Given the description of an element on the screen output the (x, y) to click on. 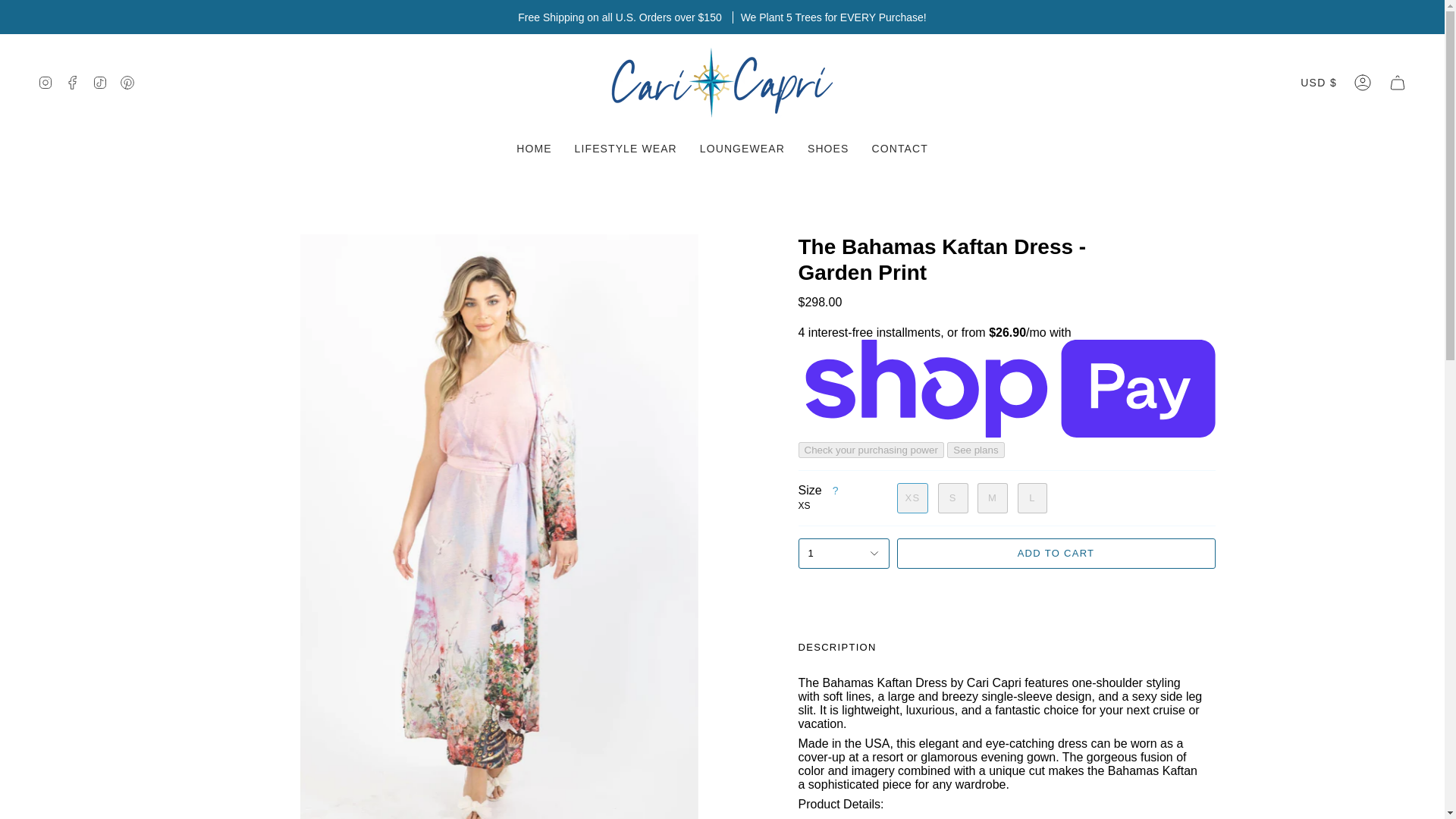
CONTACT (899, 148)
SHOES (828, 148)
HOME (533, 148)
LIFESTYLE WEAR (625, 148)
LOUNGEWEAR (742, 148)
